Given the description of an element on the screen output the (x, y) to click on. 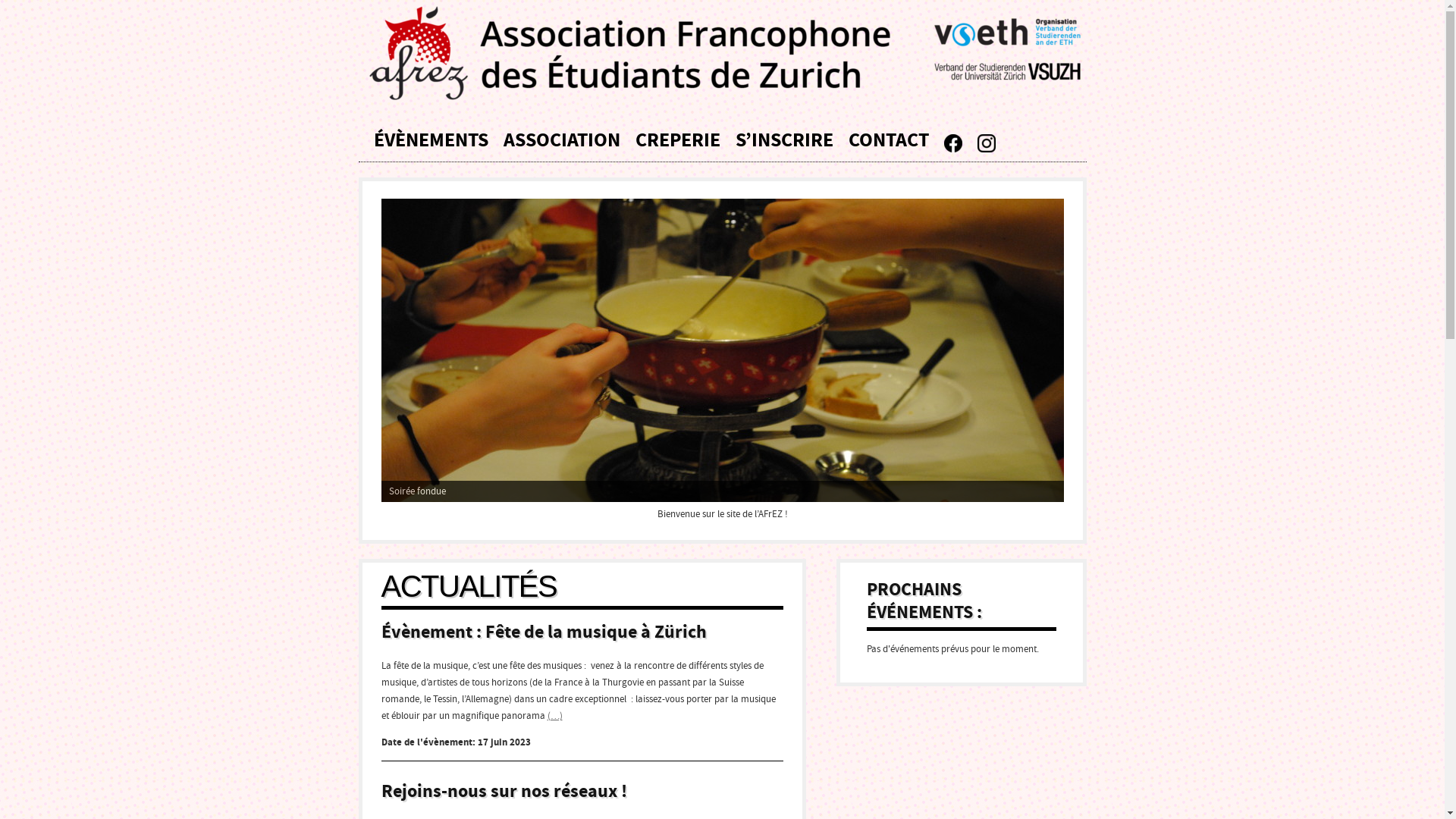
afrez_degustation_high_050 Element type: hover (721, 350)
CREPERIE Element type: text (677, 138)
L'AFREZ Element type: text (729, 53)
ASSOCIATION Element type: text (561, 138)
CONTACT Element type: text (887, 138)
